Given the description of an element on the screen output the (x, y) to click on. 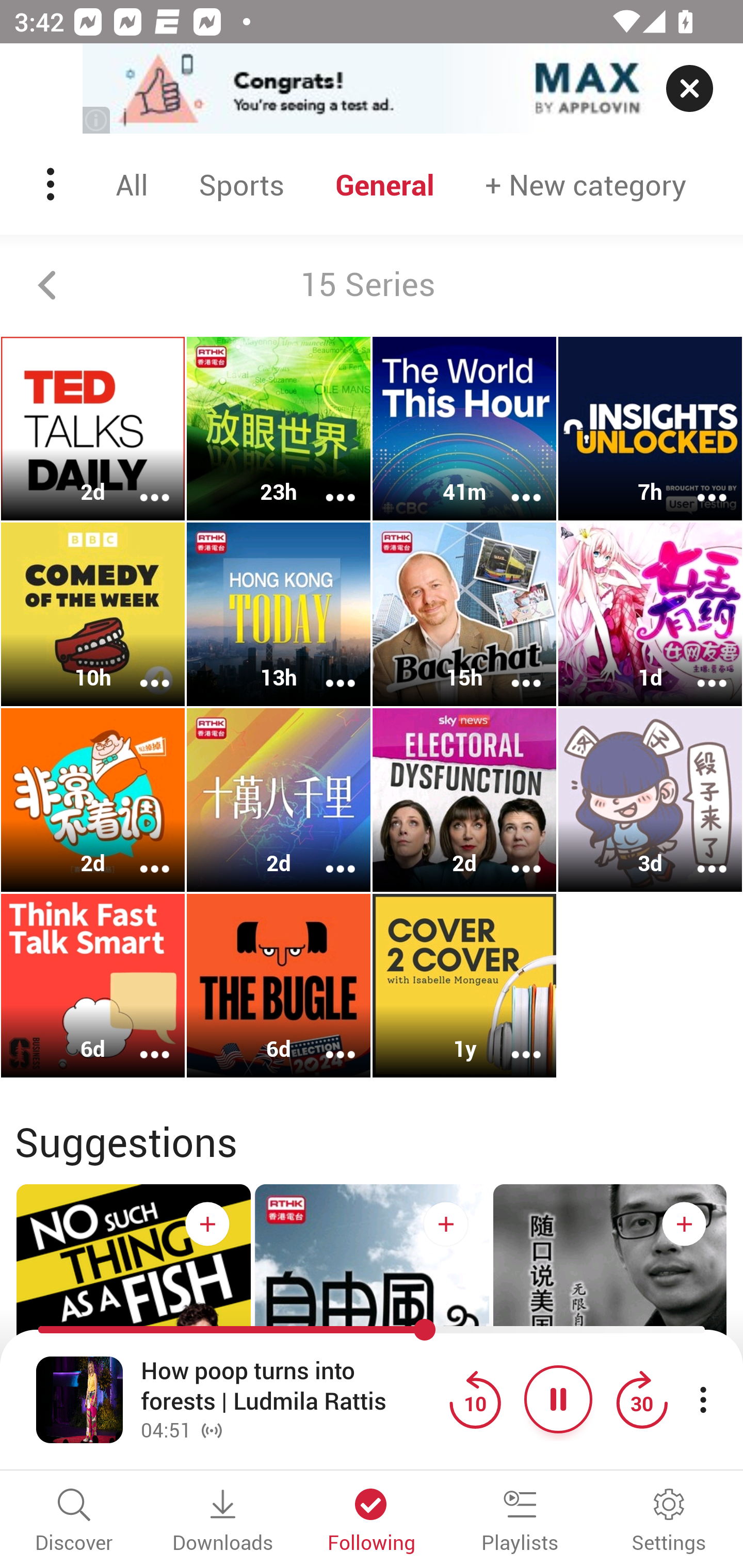
app-monetization (371, 88)
(i) (96, 119)
Menu (52, 184)
All (131, 184)
Sports (241, 184)
General (384, 184)
New category + New category (585, 184)
15 Series (371, 285)
TED Talks Daily 2d More options More options (92, 428)
放眼世界 23h More options More options (278, 428)
The World This Hour 41m More options More options (464, 428)
Insights Unlocked 7h More options More options (650, 428)
More options (141, 484)
More options (326, 484)
More options (512, 484)
More options (698, 484)
Comedy of the Week 10h More options More options (92, 614)
Hong Kong Today 13h More options More options (278, 614)
Backchat 15h More options More options (464, 614)
女王有药丨爆笑脱口秀 1d More options More options (650, 614)
More options (141, 669)
More options (326, 669)
More options (512, 669)
More options (698, 669)
非常不着调 2d More options More options (92, 799)
十萬八千里 2d More options More options (278, 799)
Electoral Dysfunction 2d More options More options (464, 799)
段子来了 3d More options More options (650, 799)
More options (141, 856)
More options (326, 856)
More options (512, 856)
More options (698, 856)
The Bugle 6d More options More options (278, 985)
Cover 2 Cover 1y More options More options (464, 985)
More options (141, 1041)
More options (326, 1041)
More options (512, 1041)
自由风自由PHONE 自由风自由PHONE Subscribe button (371, 1339)
随口说美国 随口说美国 Subscribe button (609, 1339)
Subscribe button (207, 1223)
Subscribe button (446, 1223)
Subscribe button (684, 1223)
Open fullscreen player (79, 1399)
More player controls (703, 1399)
How poop turns into forests | Ludmila Rattis (290, 1385)
Pause button (558, 1398)
Jump back (475, 1399)
Jump forward (641, 1399)
Discover (74, 1521)
Downloads (222, 1521)
Following (371, 1521)
Playlists (519, 1521)
Settings (668, 1521)
